Given the description of an element on the screen output the (x, y) to click on. 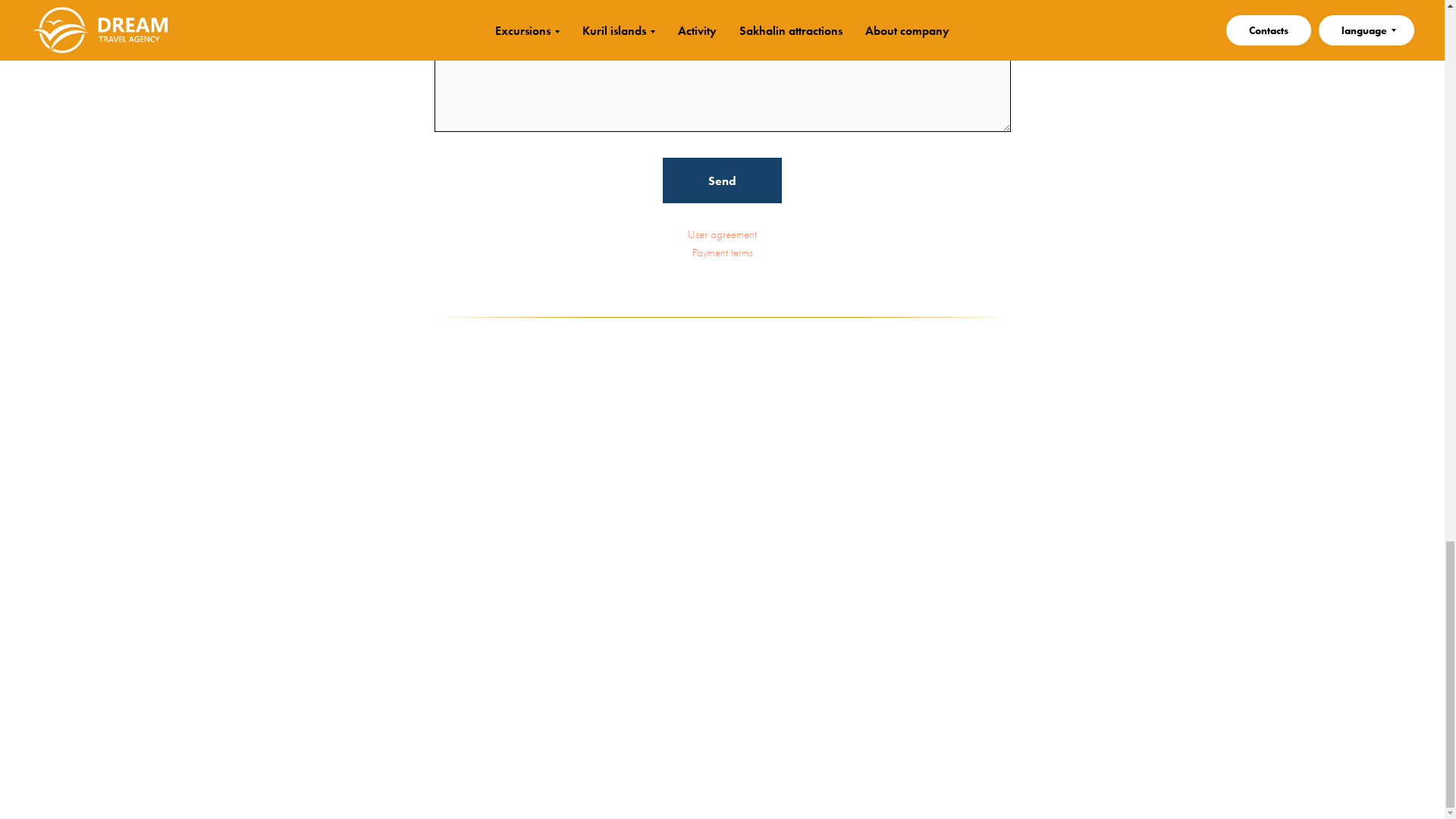
Send (721, 180)
Payment terms (721, 252)
User agreement (722, 233)
